Given the description of an element on the screen output the (x, y) to click on. 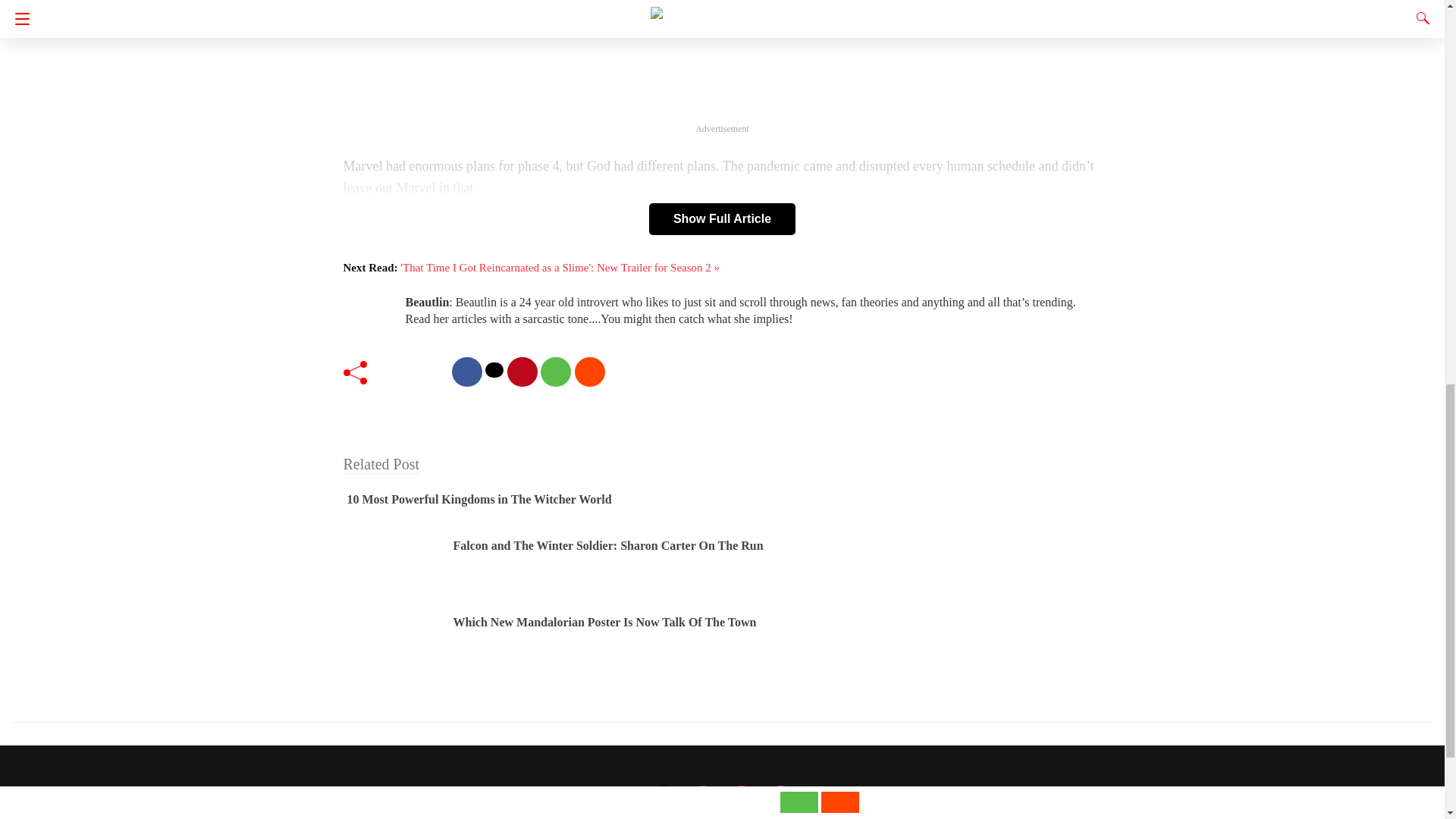
twitter share (493, 369)
facebook profile (702, 800)
whatsapp share (555, 371)
Falcon and The Winter Soldier: Sharon Carter On The Run (607, 545)
instagram profile (780, 800)
facebook share (466, 371)
twitter profile (663, 800)
Which New Mandalorian Poster Is Now Talk Of The Town (604, 621)
Which New Mandalorian Poster Is Now Talk Of The Town (604, 621)
pinterest share (521, 371)
Falcon and The Winter Soldier: Sharon Carter On The Run (607, 545)
10 Most Powerful Kingdoms in The Witcher World (479, 499)
10 Most Powerful Kingdoms in The Witcher World (479, 499)
Show Full Article (721, 219)
reddit share (590, 371)
